Given the description of an element on the screen output the (x, y) to click on. 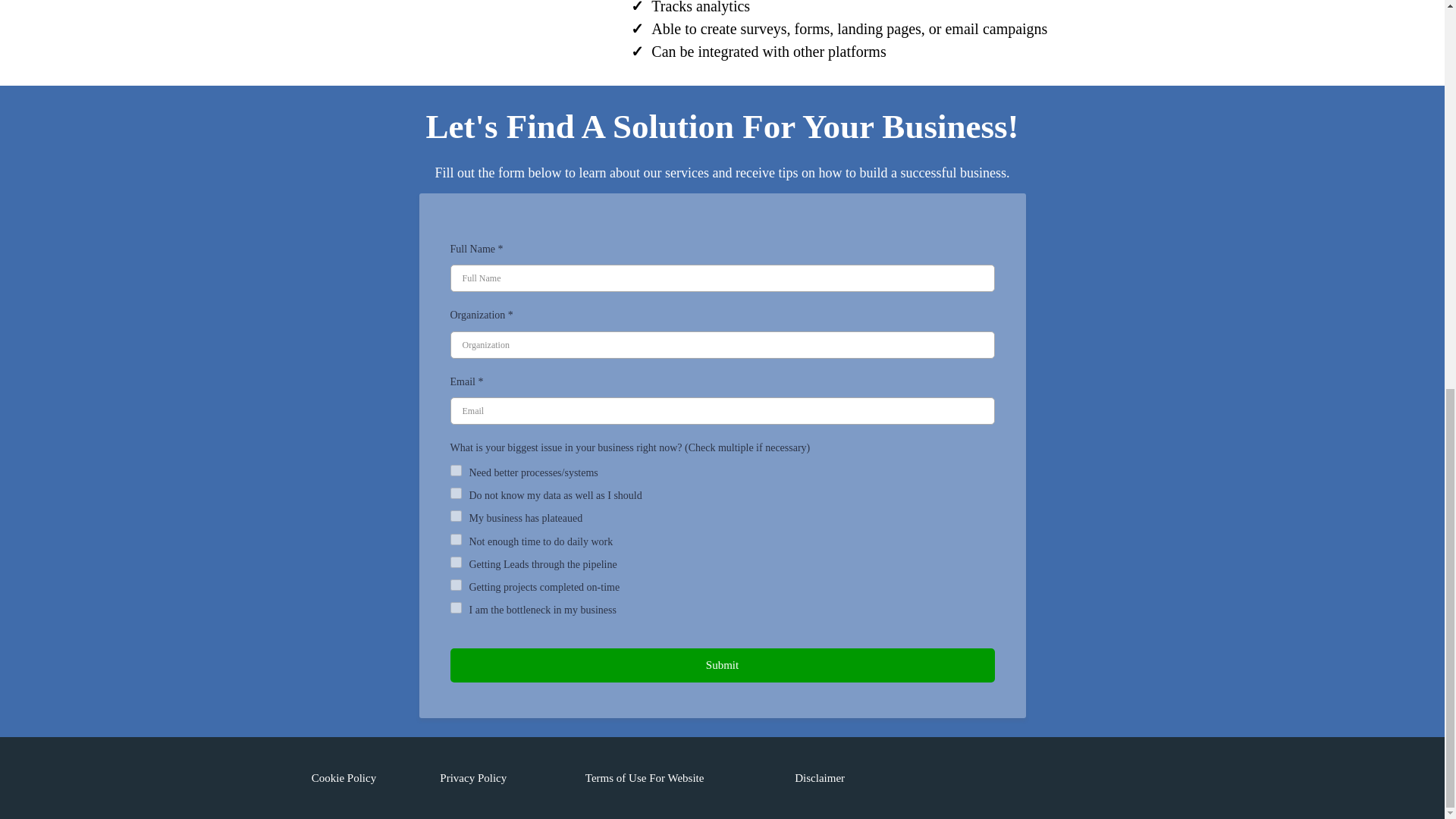
Cookie Policy (343, 777)
Do not know my data as well as I should (455, 492)
I am the bottleneck in my business (455, 607)
Submit (721, 665)
Terms of Use For Website (644, 777)
Getting projects completed on-time (455, 584)
Disclaimer (819, 777)
Not enough time to do daily work (455, 539)
Getting Leads through the pipeline (455, 562)
Privacy Policy (472, 777)
My business has plateaued (455, 515)
